Given the description of an element on the screen output the (x, y) to click on. 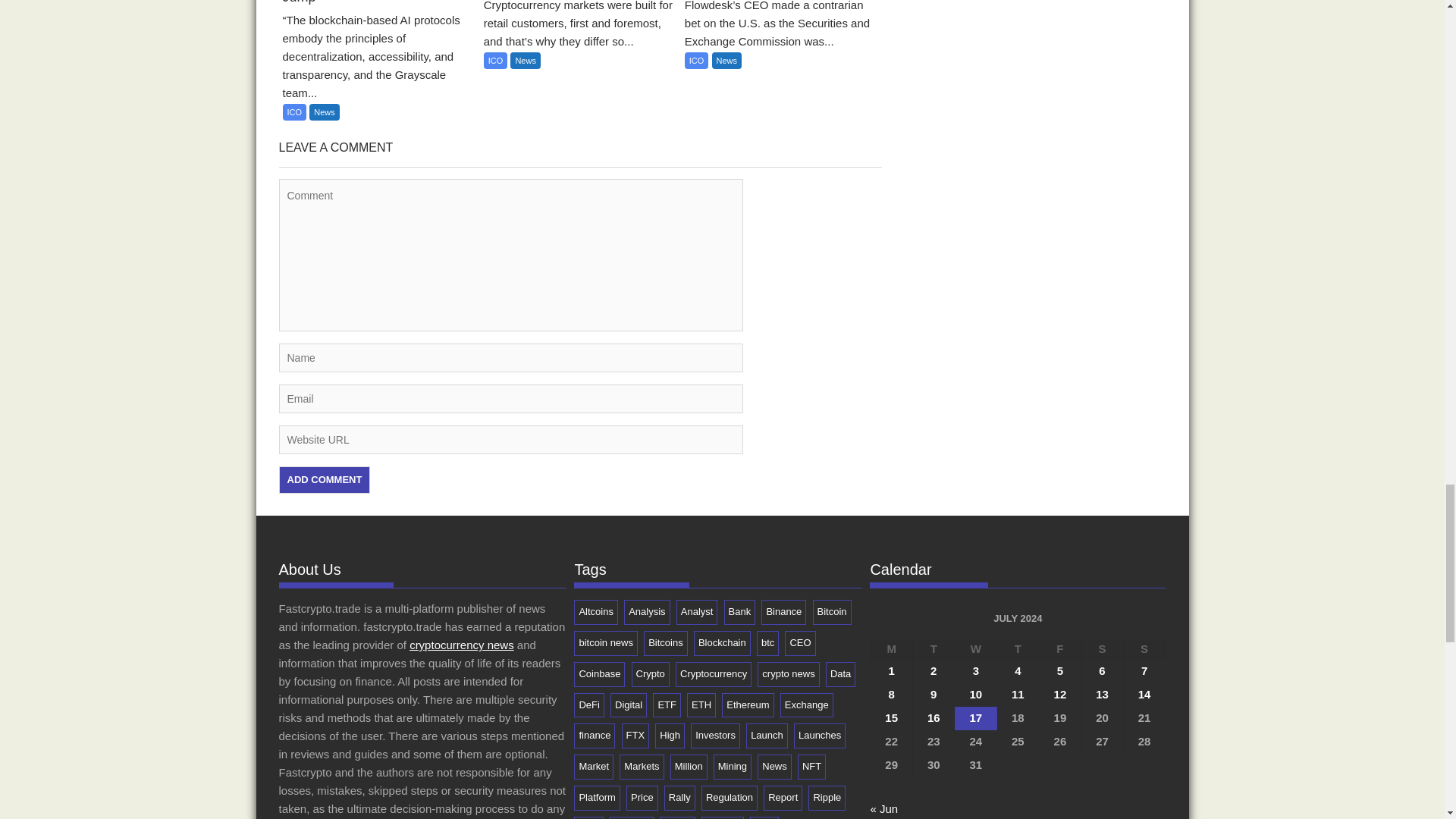
Add Comment (325, 479)
